Given the description of an element on the screen output the (x, y) to click on. 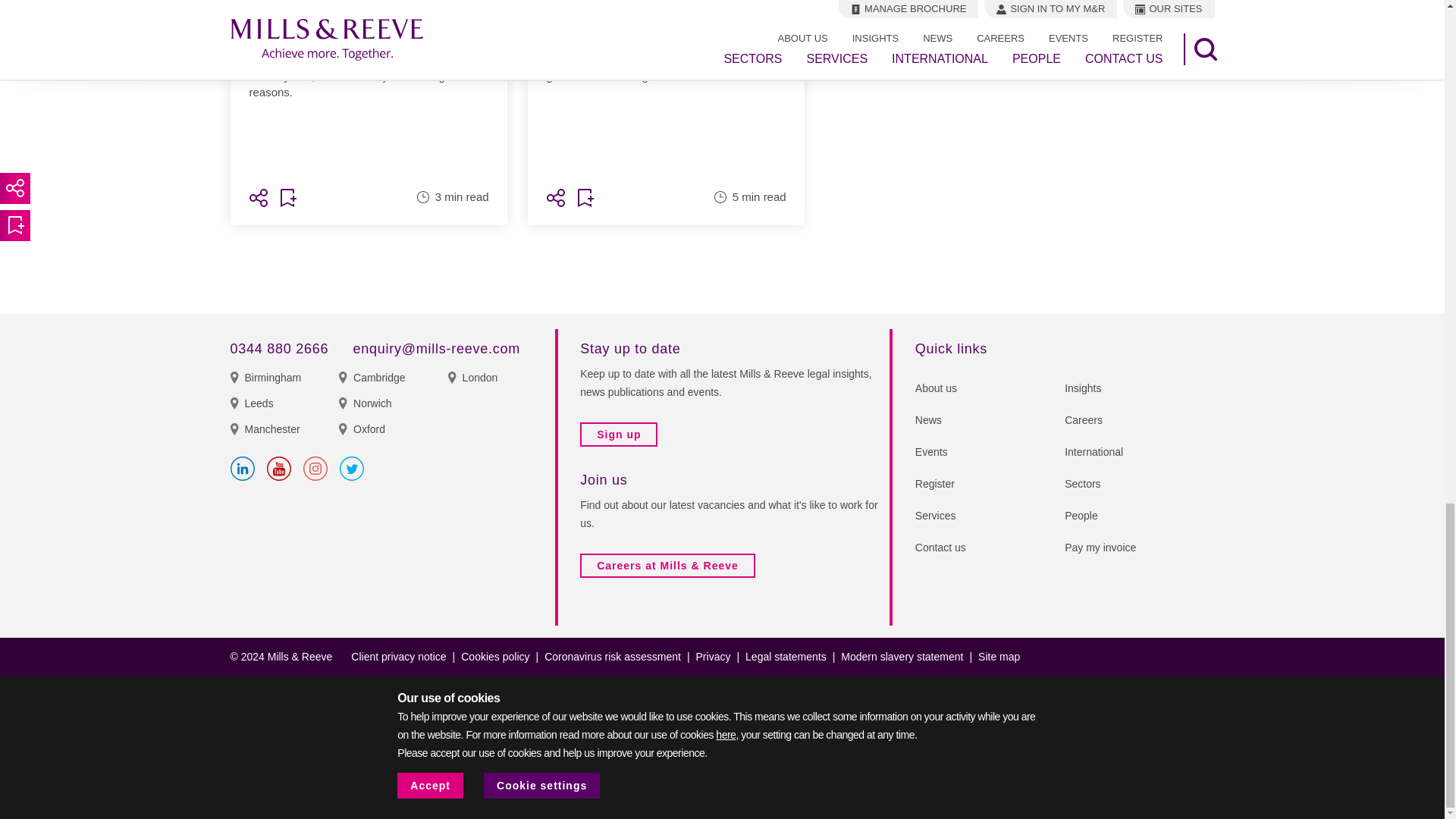
Boohoo - a case study in ESG-related shareholder claims (368, 87)
LinkedIn (242, 468)
YouTube (278, 468)
Instagram (314, 468)
